Given the description of an element on the screen output the (x, y) to click on. 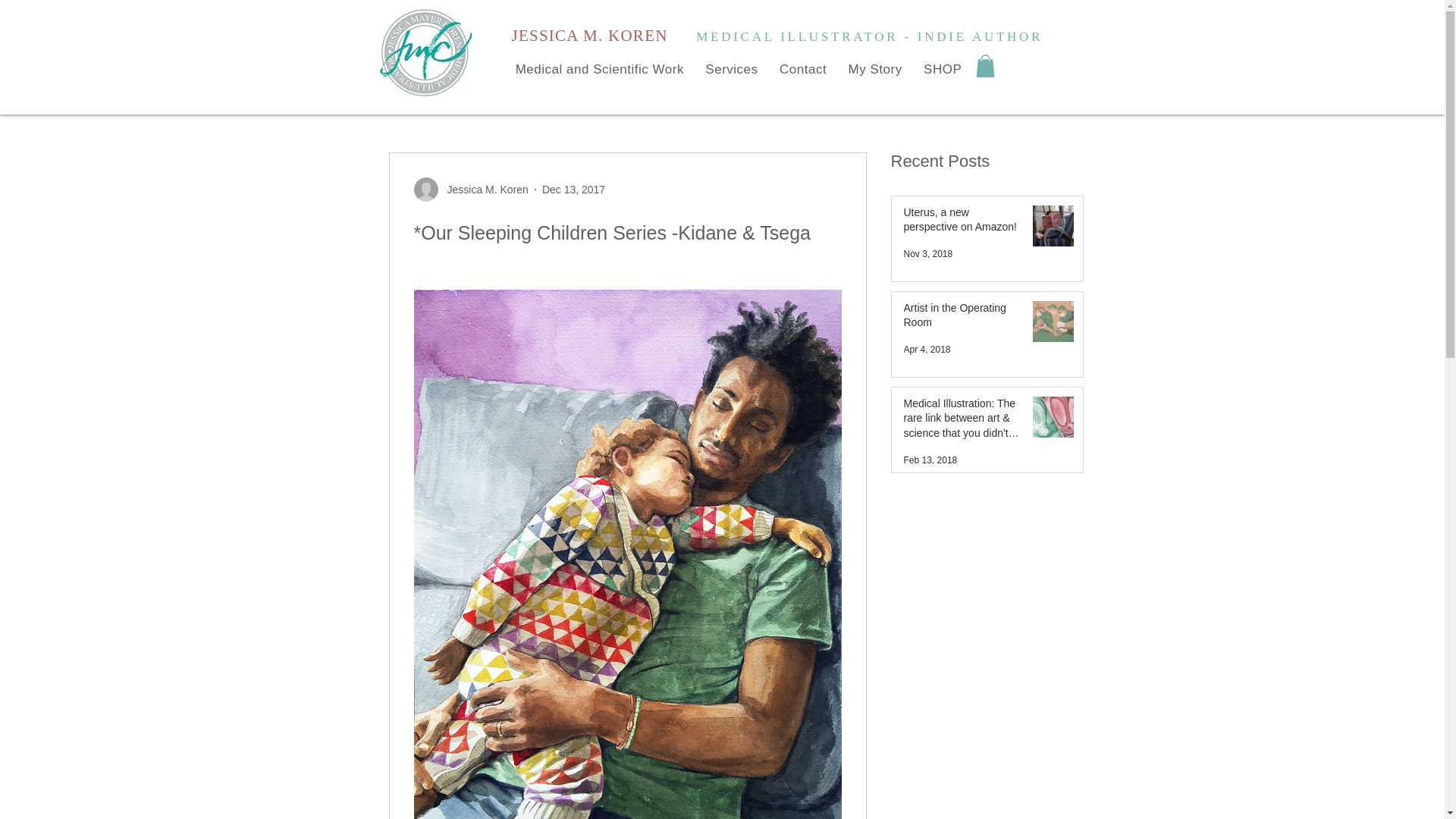
Nov 3, 2018 (928, 253)
Feb 13, 2018 (931, 460)
Medical and Scientific Work (600, 69)
Dec 13, 2017 (573, 189)
My Story (875, 69)
Services (731, 69)
Jessica M. Koren (483, 189)
Artist in the Operating Room (962, 318)
Contact (802, 69)
Apr 4, 2018 (927, 348)
SHOP (942, 69)
Uterus, a new perspective on Amazon! (962, 222)
